Given the description of an element on the screen output the (x, y) to click on. 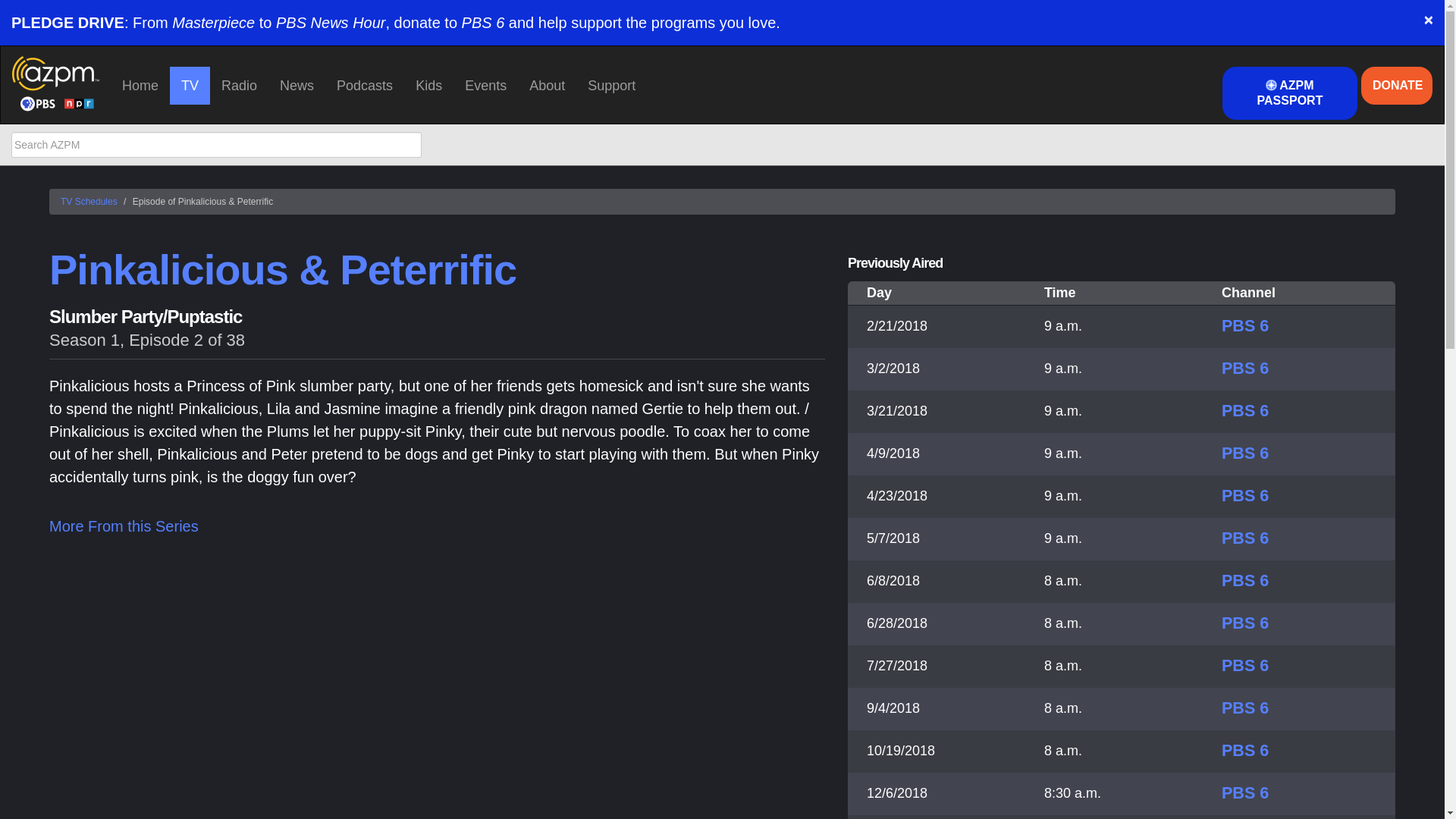
Home (140, 85)
Radio (238, 85)
Events (485, 85)
Kids (428, 85)
News (295, 85)
TV (189, 85)
Podcasts (364, 85)
About (547, 85)
